Given the description of an element on the screen output the (x, y) to click on. 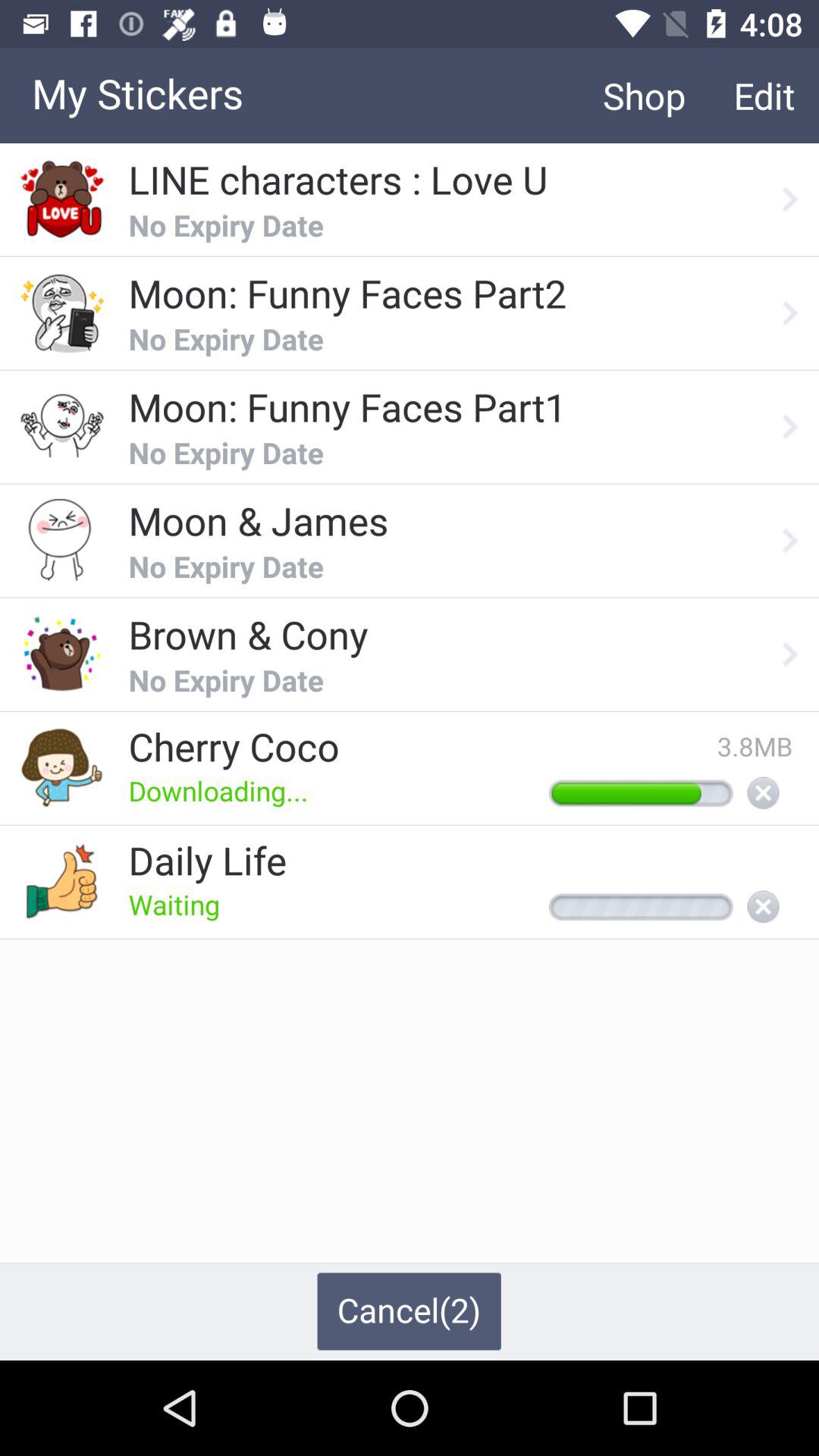
open cancel(2) app (409, 1311)
